Given the description of an element on the screen output the (x, y) to click on. 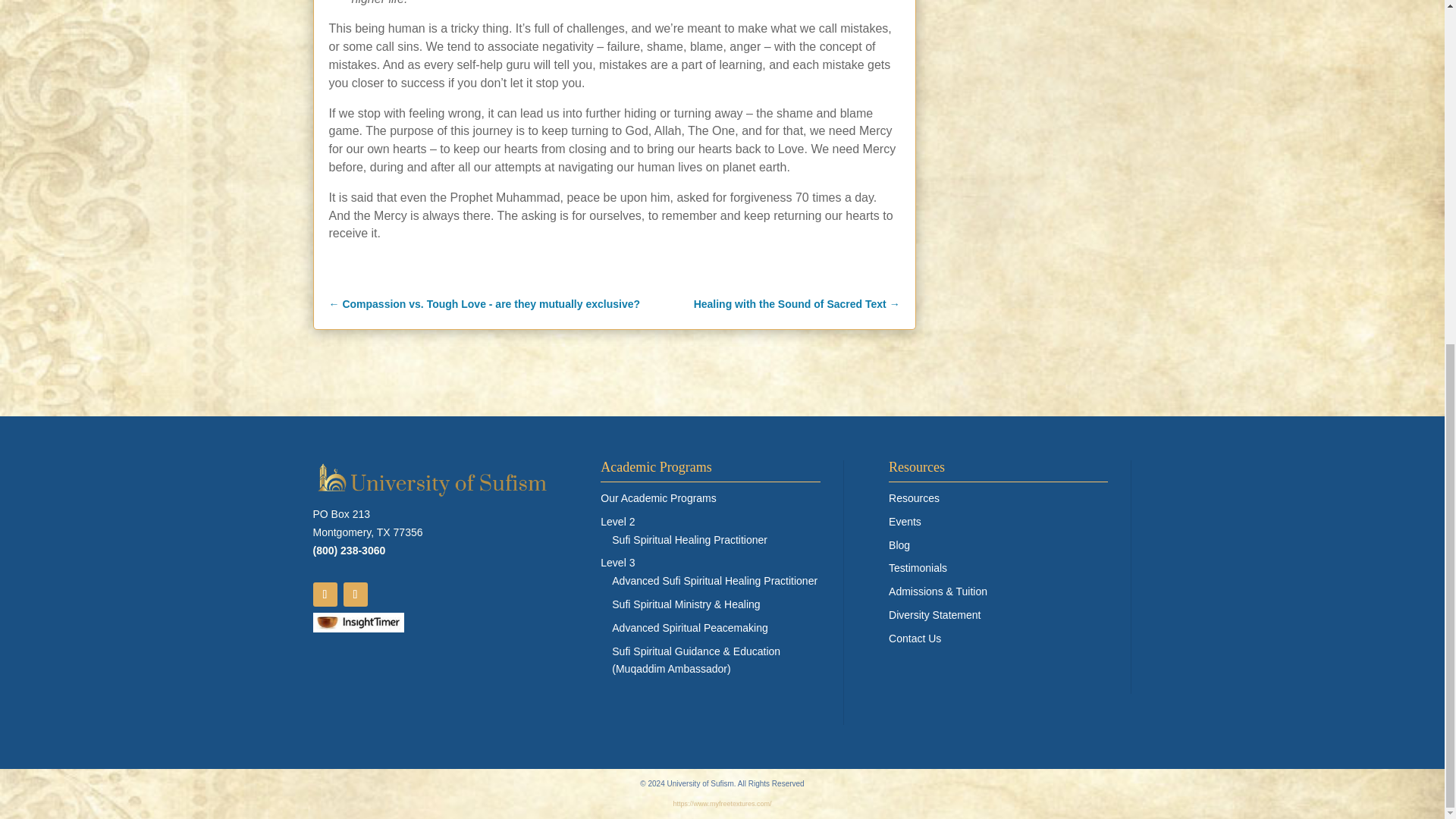
insight-timer-sm (358, 622)
Follow on Facebook (324, 594)
Follow on Instagram (354, 594)
